Given the description of an element on the screen output the (x, y) to click on. 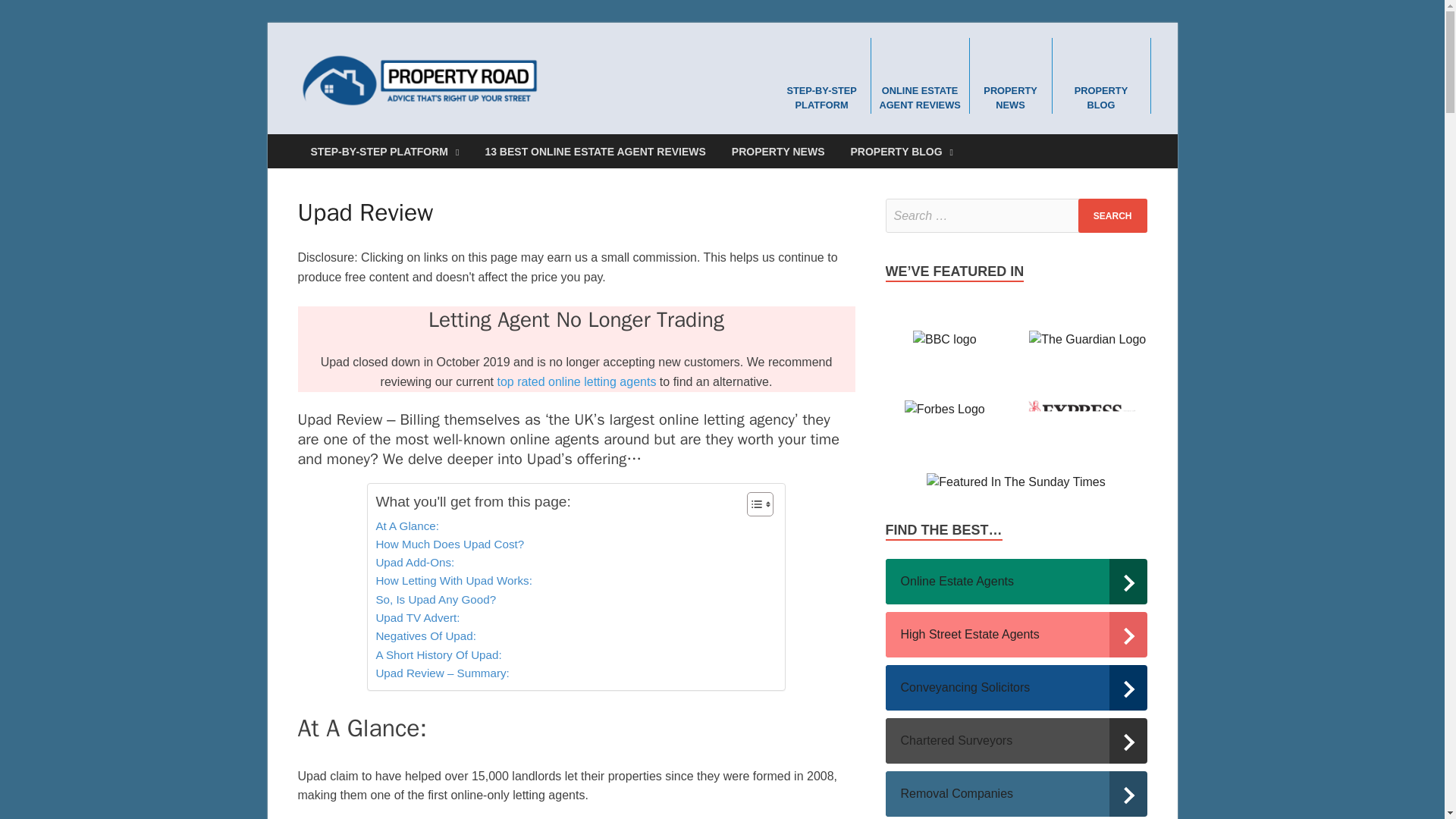
At A Glance: (407, 525)
So, Is Upad Any Good? (435, 599)
Upad TV Advert: (417, 618)
PROPERTY NEWS (1010, 74)
13 BEST ONLINE ESTATE AGENT REVIEWS (594, 151)
ONLINE ESTATE AGENT REVIEWS (919, 74)
top rated online letting agents (576, 381)
Upad Add-Ons: (414, 562)
STEP-BY-STEP PLATFORM (821, 74)
A Short History Of Upad: (437, 655)
